Given the description of an element on the screen output the (x, y) to click on. 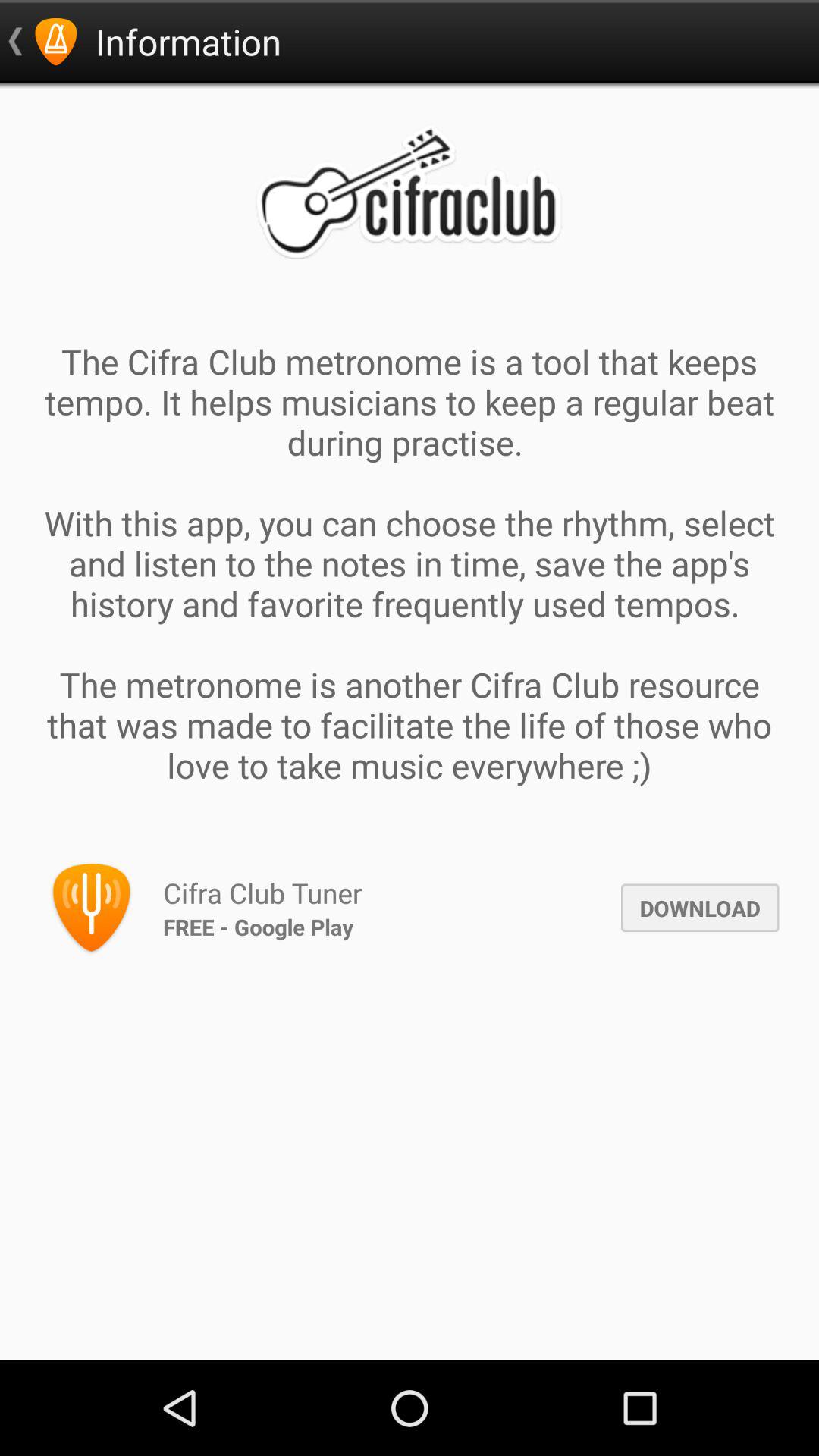
press download icon (700, 907)
